Given the description of an element on the screen output the (x, y) to click on. 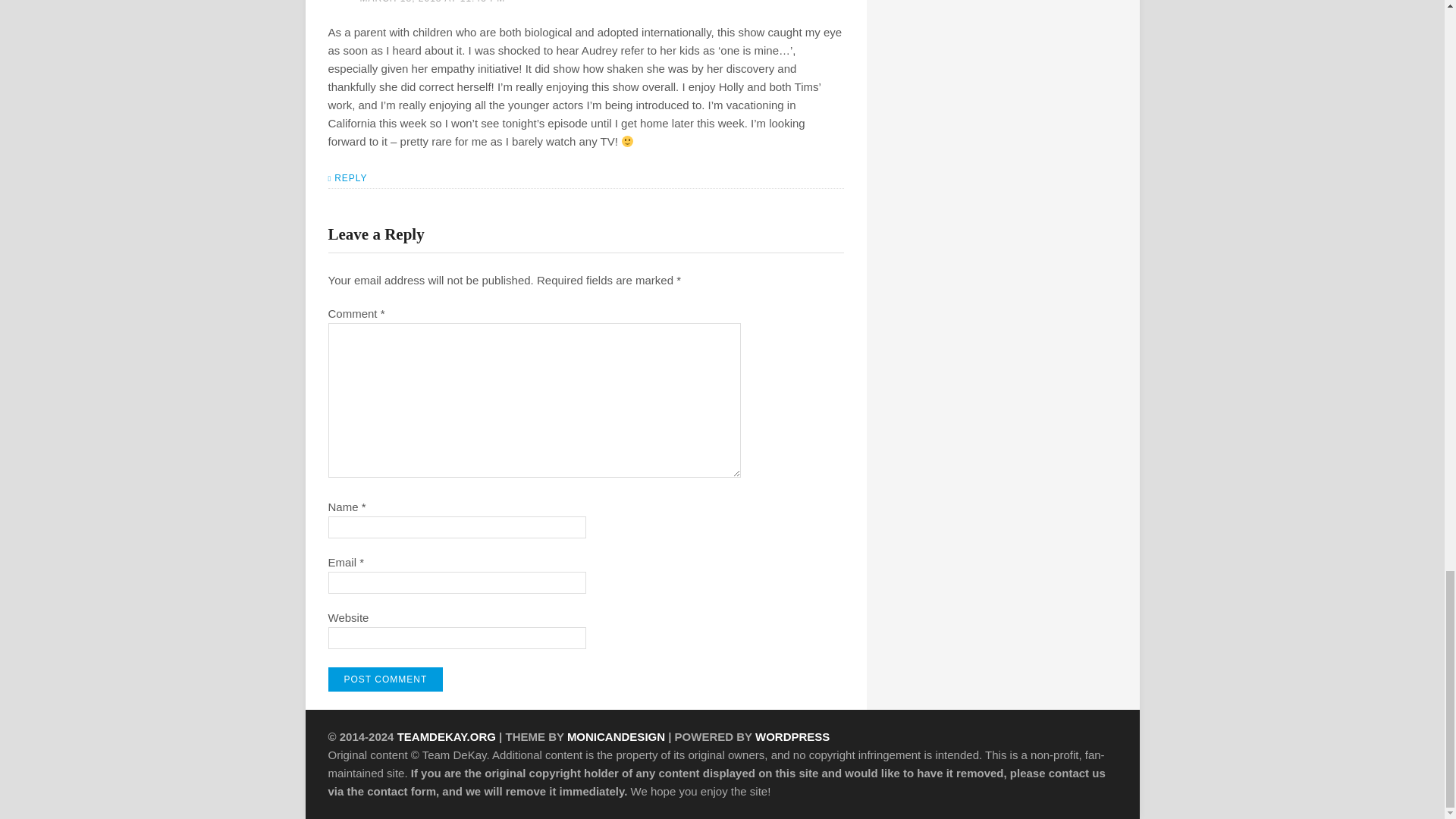
MARCH 18, 2018 AT 11:45 PM (432, 2)
Post Comment (384, 679)
REPLY (346, 179)
Post Comment (384, 679)
